Given the description of an element on the screen output the (x, y) to click on. 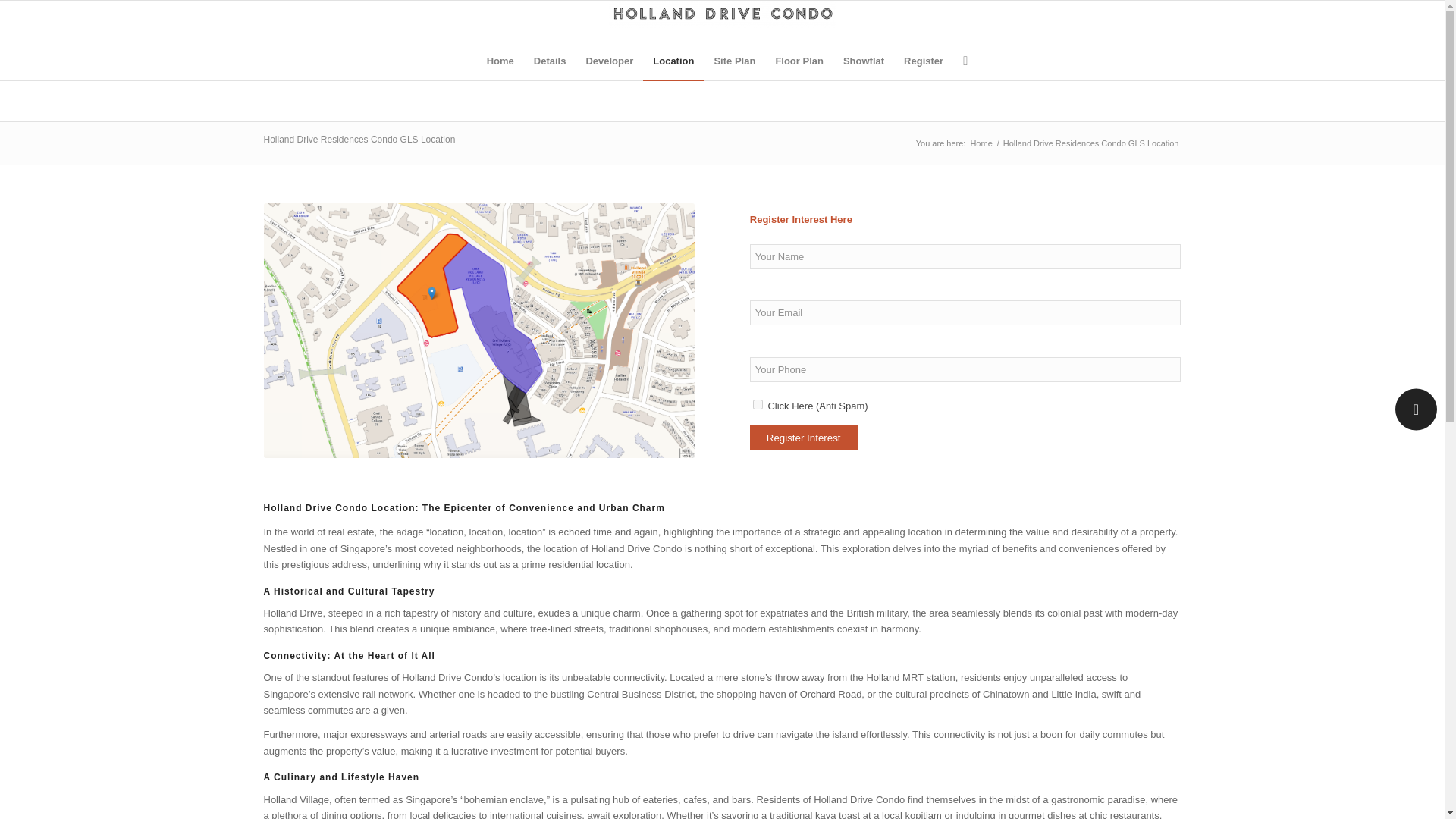
Register Interest (803, 437)
Details (550, 61)
Permanent Link: Holland Drive Residences Condo GLS Location (359, 139)
Register Interest (803, 437)
Location (673, 61)
Home (981, 143)
Register (923, 61)
Holland Drive Residences Condo GLS Location (359, 139)
Home (500, 61)
Floor Plan (798, 61)
